Given the description of an element on the screen output the (x, y) to click on. 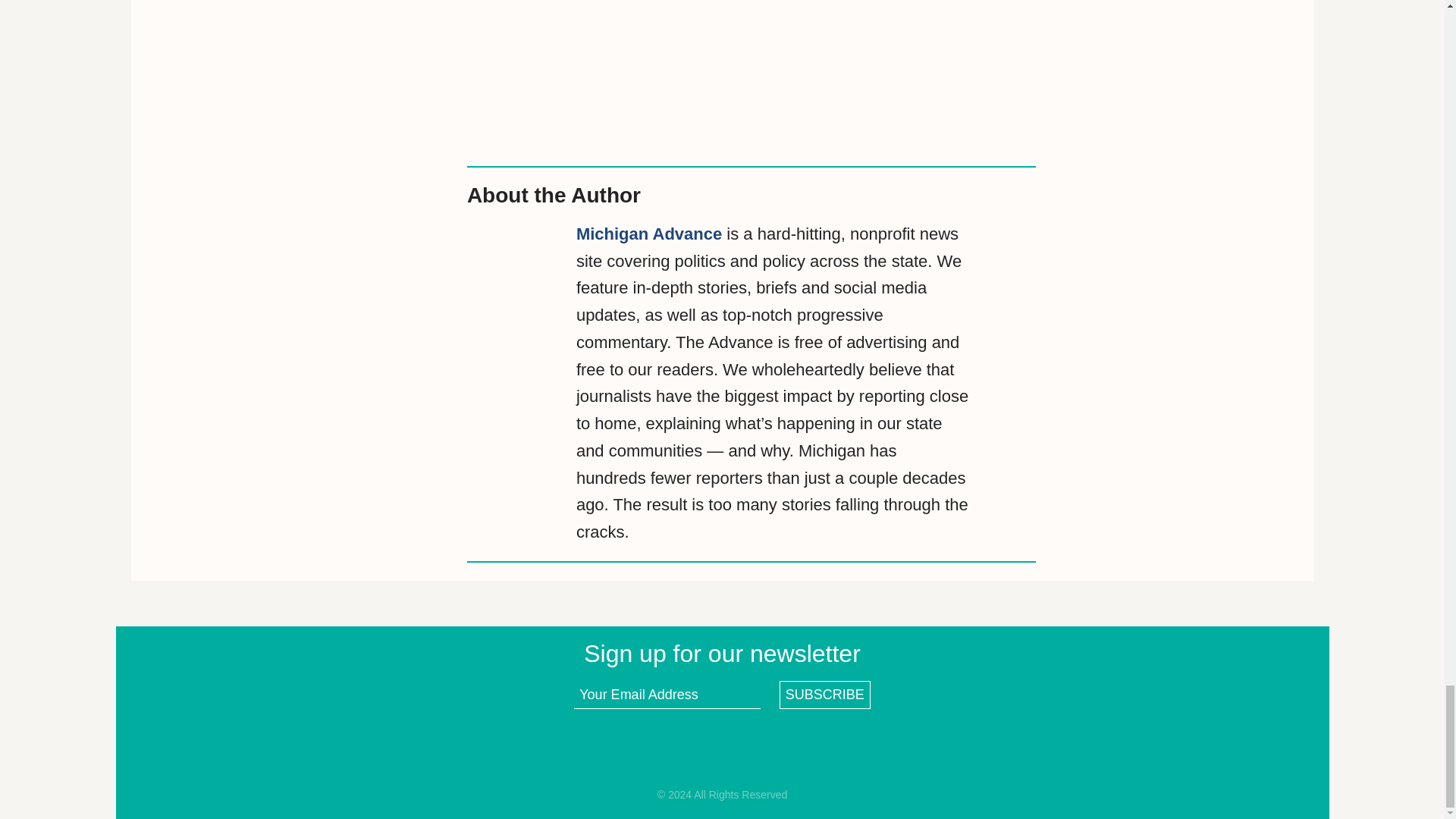
Michigan Advance (649, 233)
subscribe (824, 694)
